Given the description of an element on the screen output the (x, y) to click on. 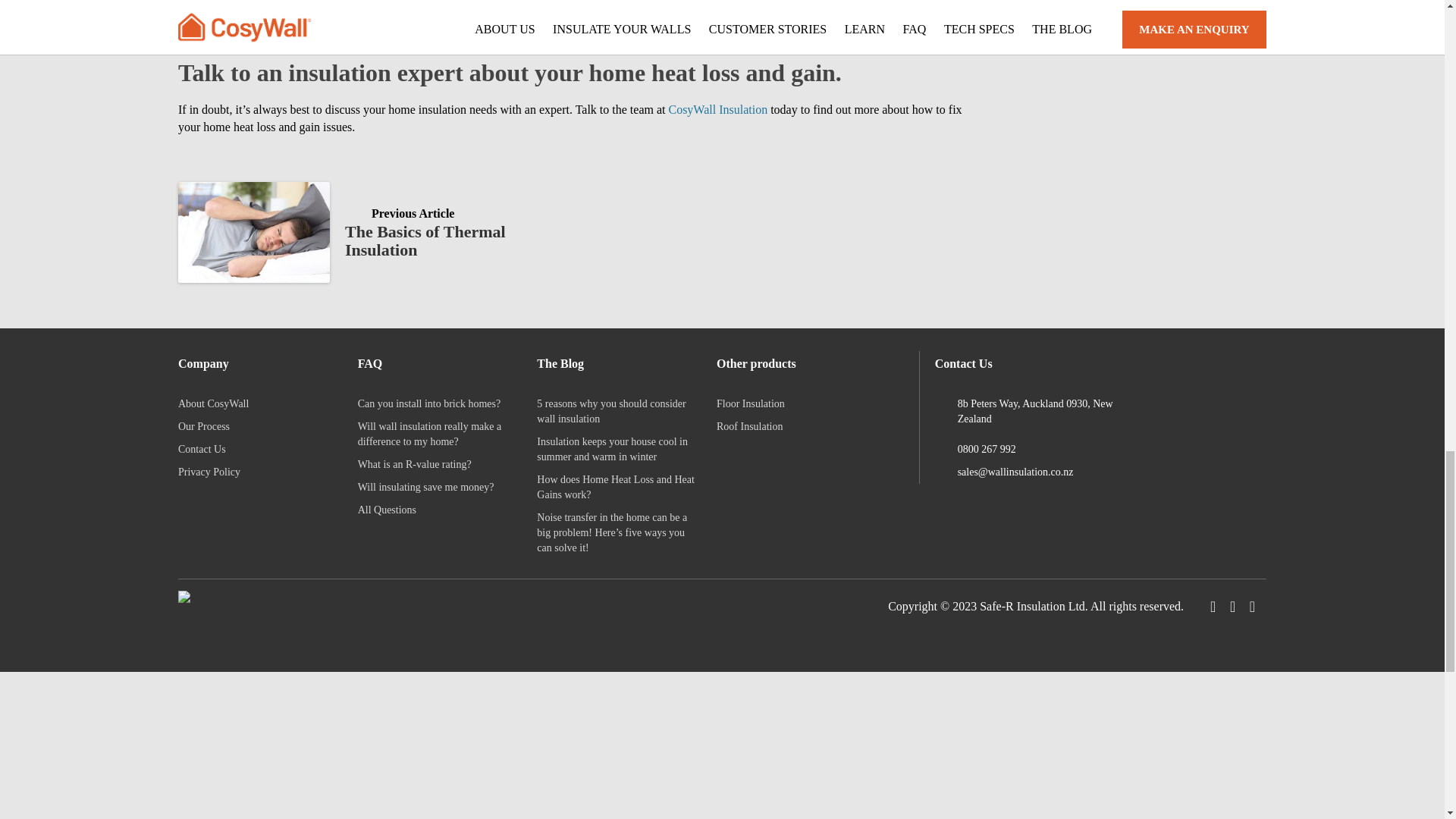
Floor Insulation (750, 403)
Contact Us (201, 449)
CosyWall Insulation (367, 231)
All Questions (717, 109)
What is an R-value rating? (387, 509)
Privacy Policy (414, 464)
Will insulating save me money? (208, 471)
Will wall insulation really make a difference to my home? (426, 487)
